Given the description of an element on the screen output the (x, y) to click on. 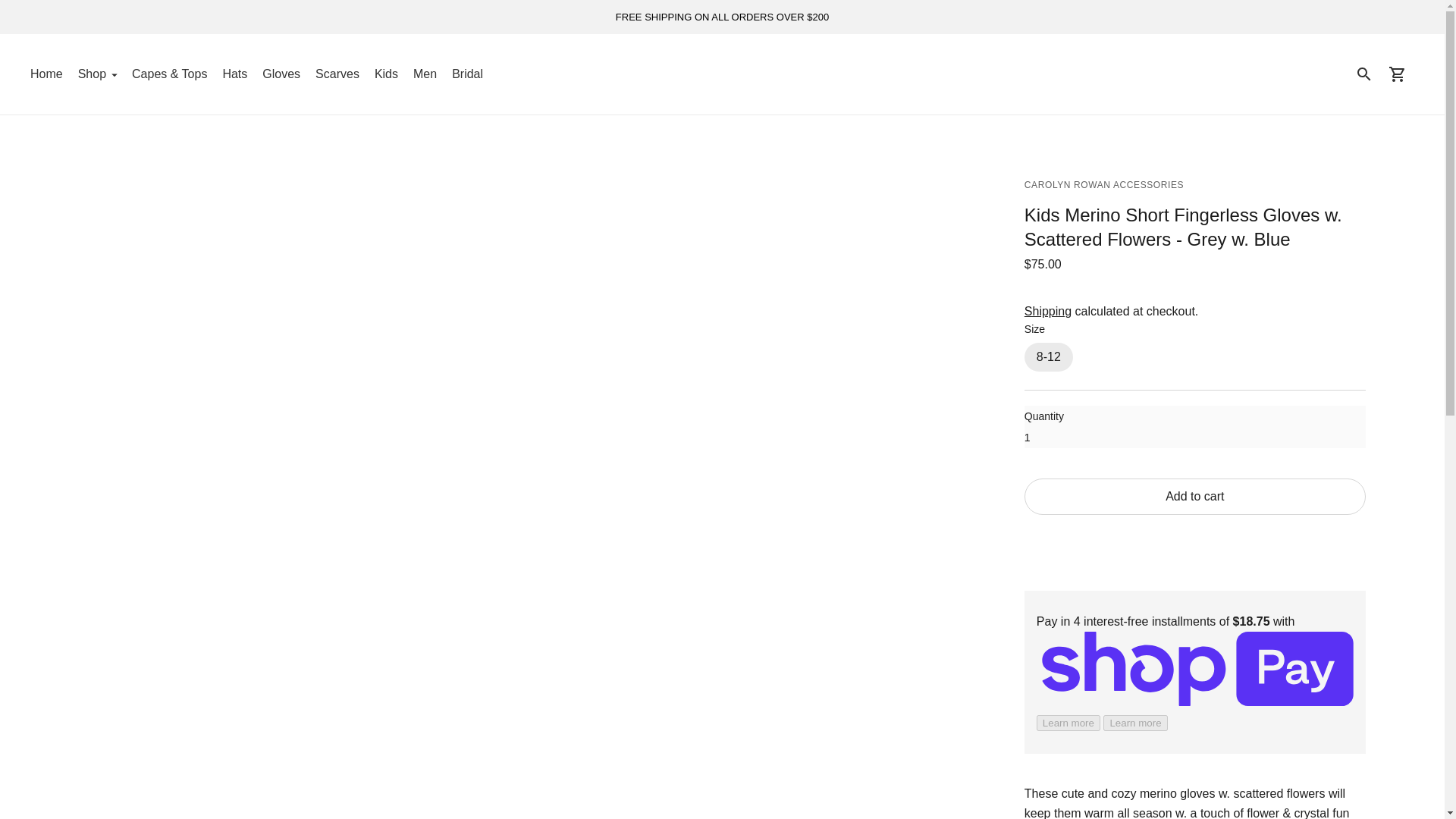
Gloves (280, 73)
Bridal (467, 73)
Search (1364, 73)
home (722, 74)
Scarves (337, 73)
1 (1195, 426)
Shop (97, 73)
cart (1396, 73)
Home (46, 73)
